Given the description of an element on the screen output the (x, y) to click on. 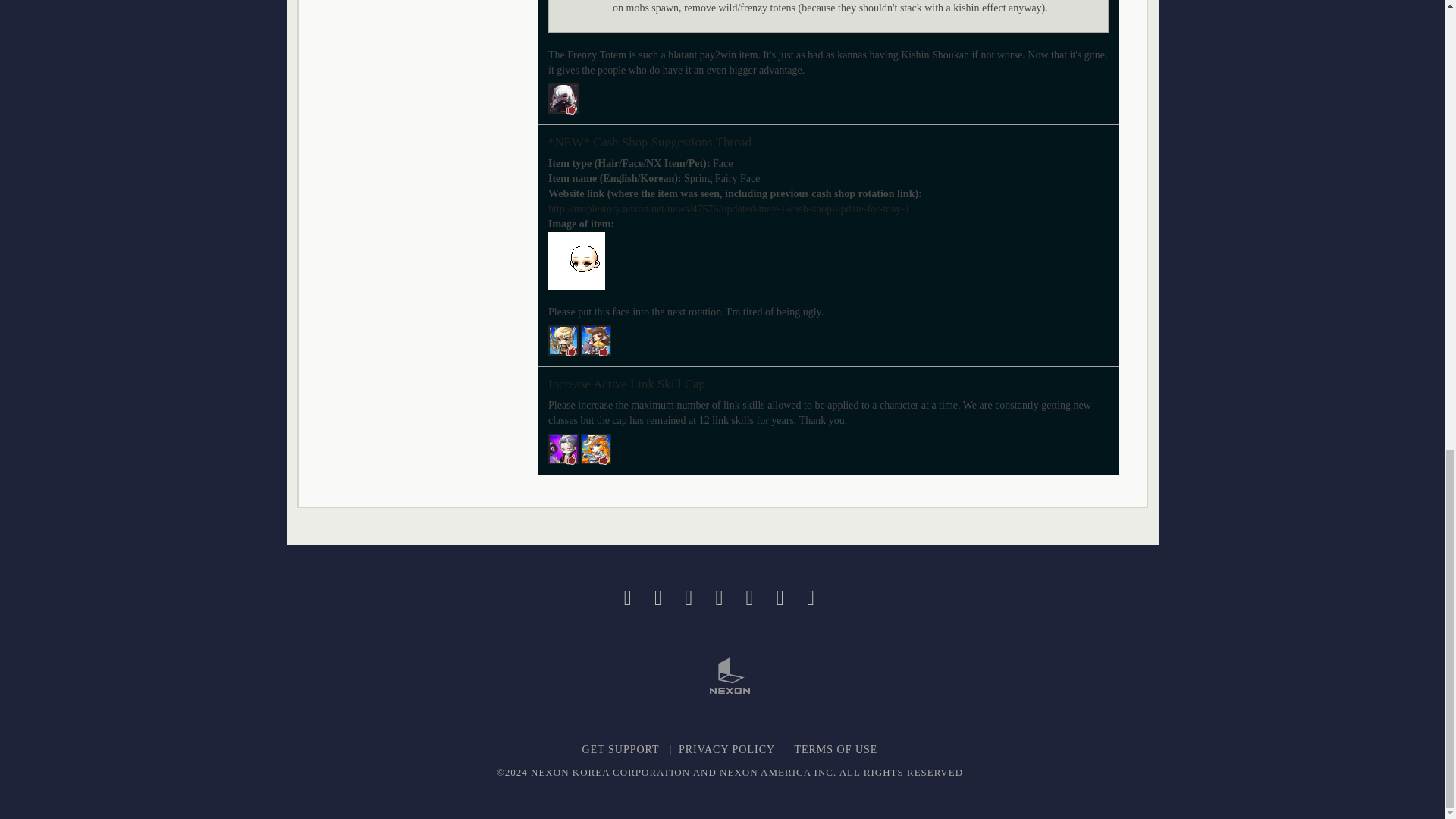
MapleSapo - Like on May 18, 2021. (563, 98)
MapleSapo (563, 98)
